Given the description of an element on the screen output the (x, y) to click on. 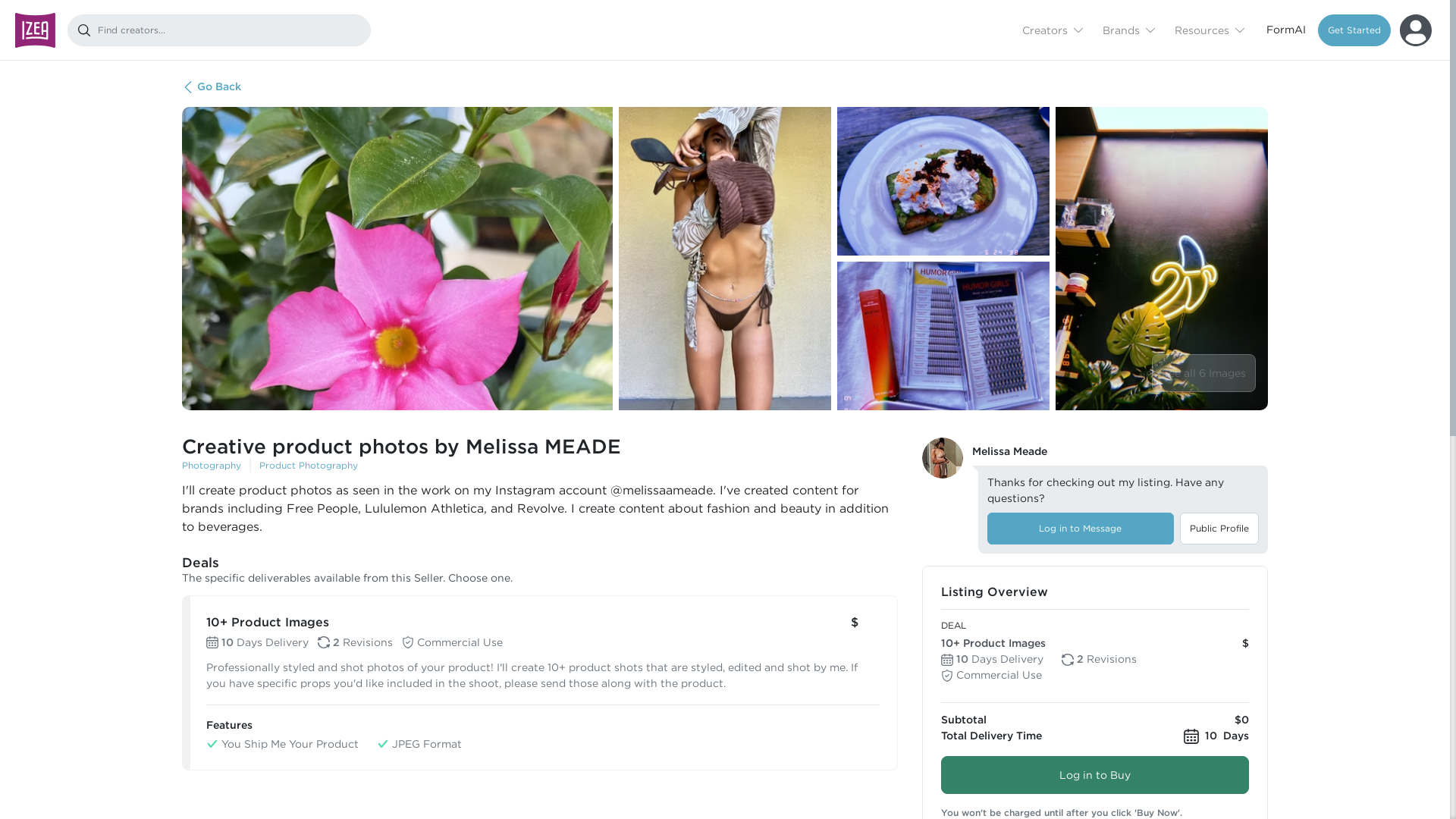
Resources (1208, 29)
Creators (1052, 29)
Brands (1128, 29)
